Given the description of an element on the screen output the (x, y) to click on. 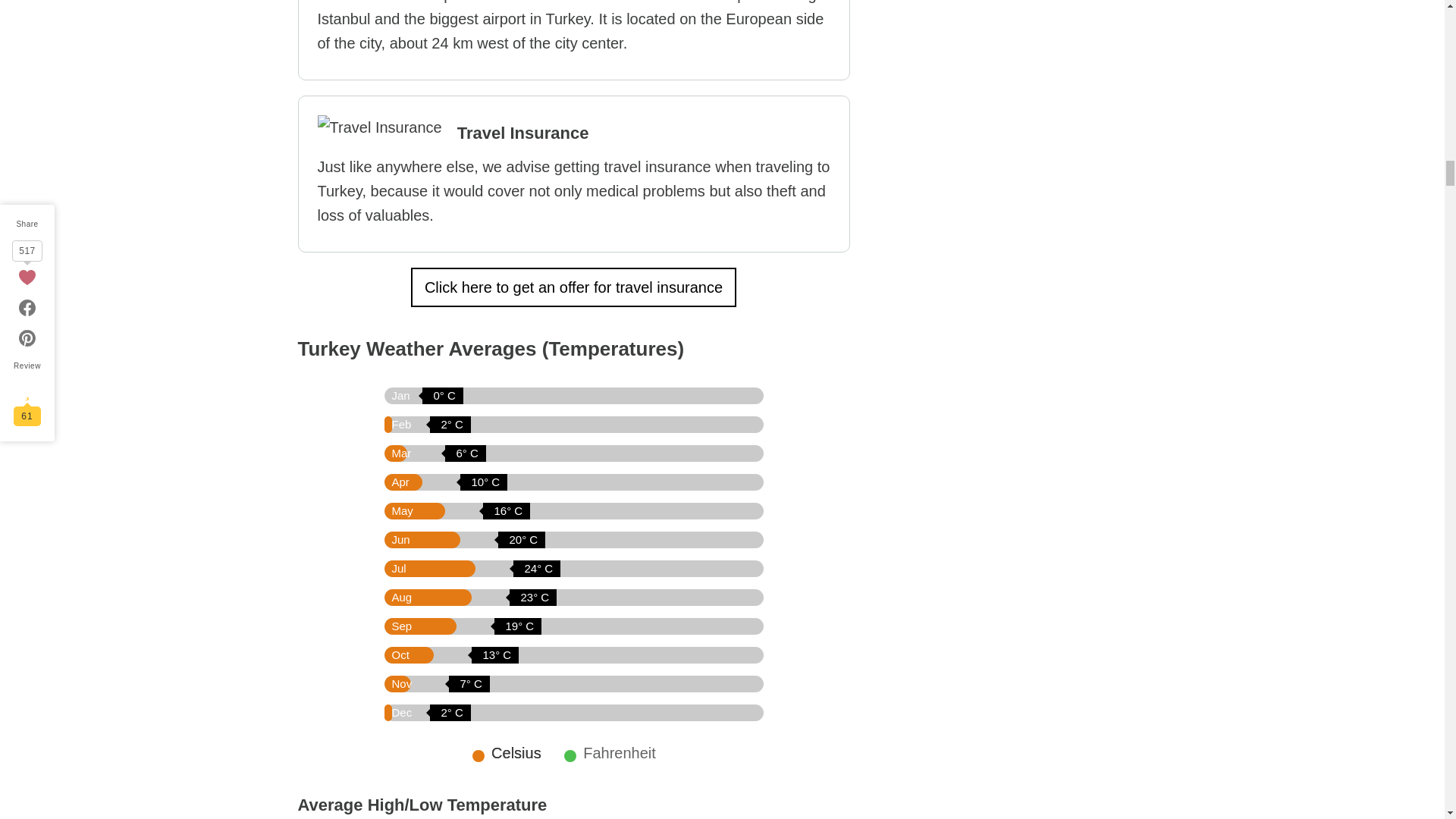
Click here to get an offer for travel insurance (573, 287)
